Given the description of an element on the screen output the (x, y) to click on. 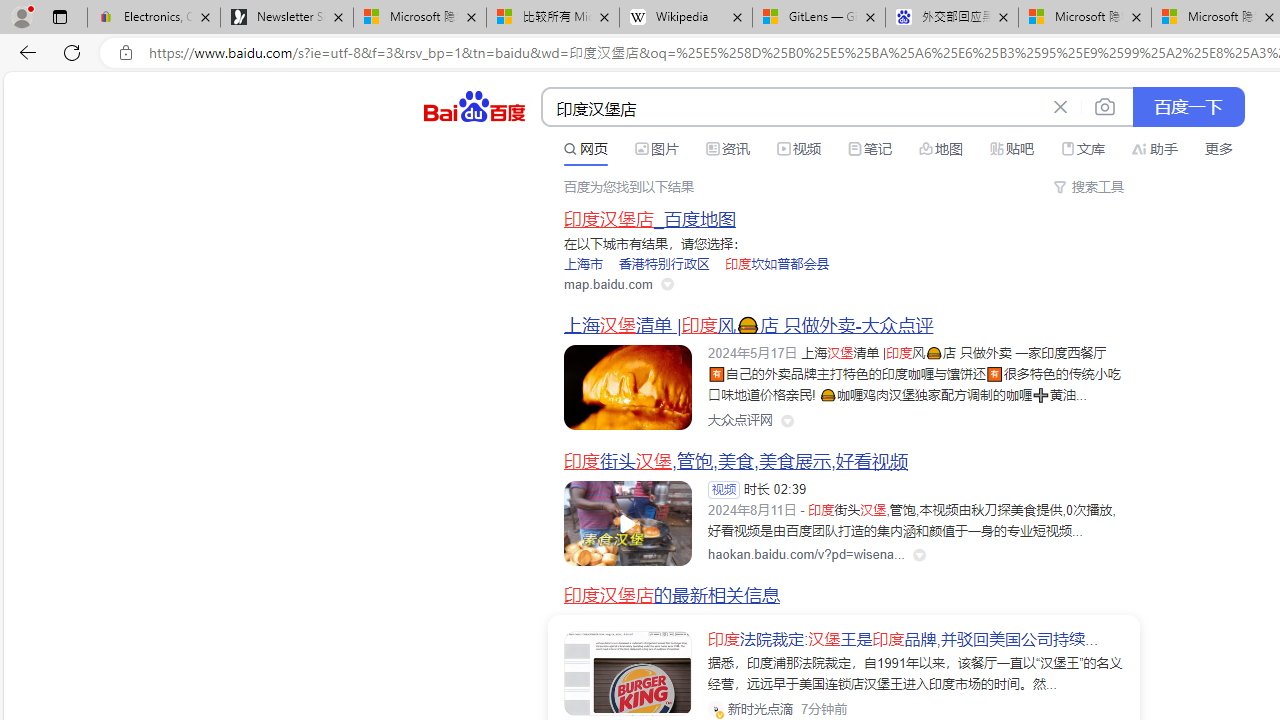
Newsletter Sign Up (287, 17)
